Given the description of an element on the screen output the (x, y) to click on. 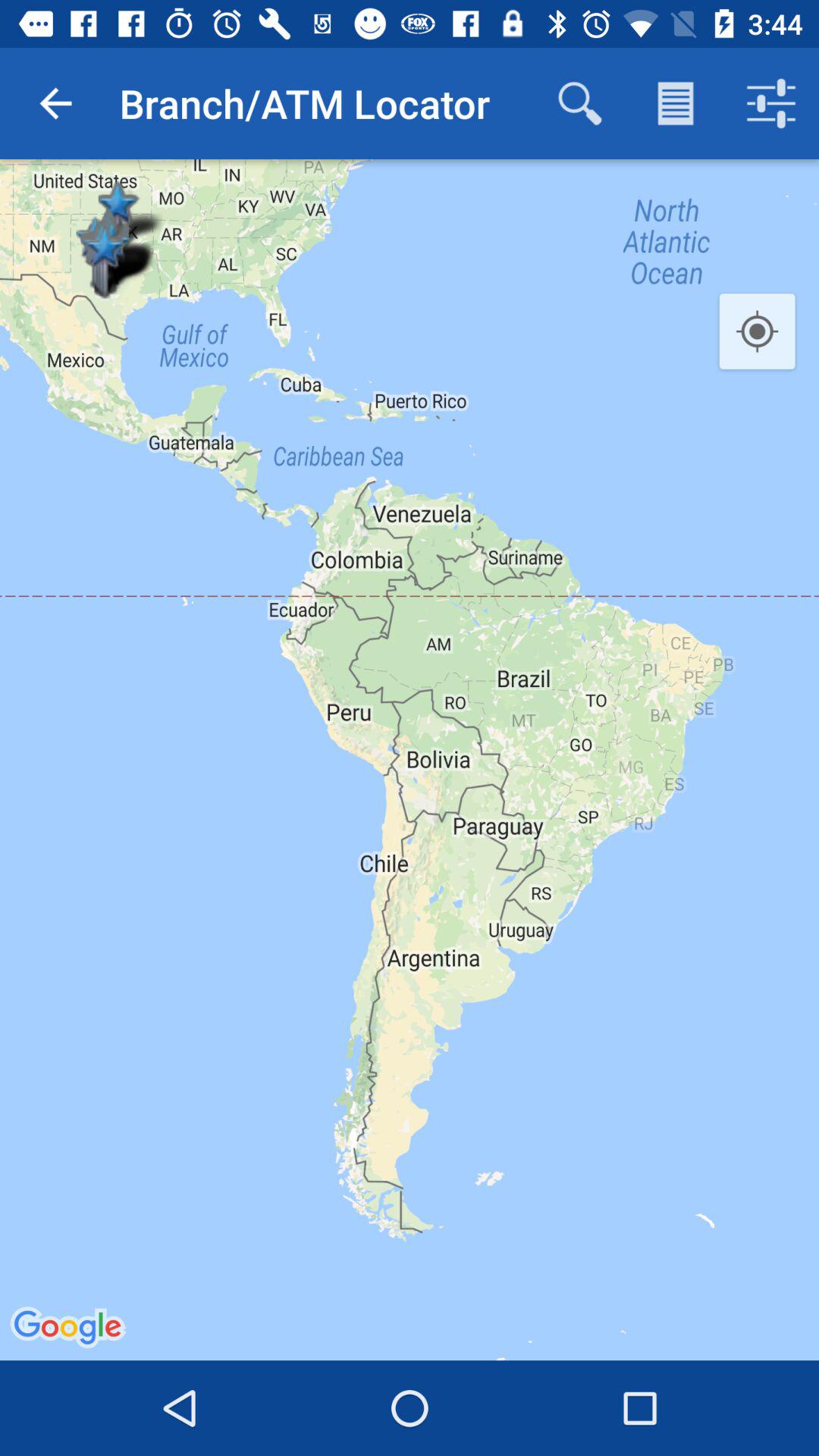
choose the icon at the top left corner (55, 103)
